Given the description of an element on the screen output the (x, y) to click on. 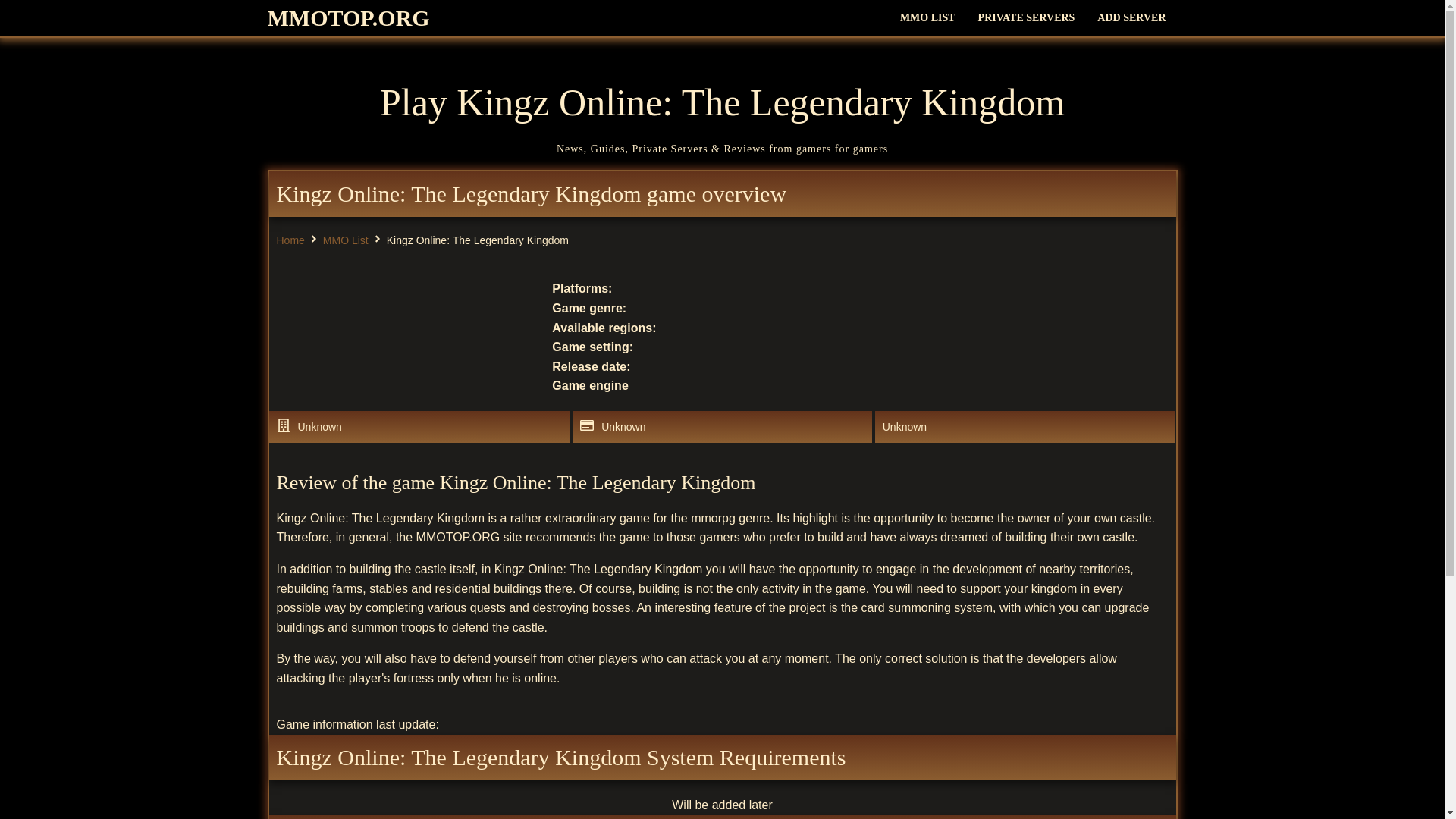
MMO List (345, 239)
Home (290, 239)
MMOTOP.ORG (347, 18)
ADD SERVER (1131, 18)
Home (290, 239)
PRIVATE SERVERS (1026, 18)
MMO LIST (927, 18)
MMO List (345, 239)
